Given the description of an element on the screen output the (x, y) to click on. 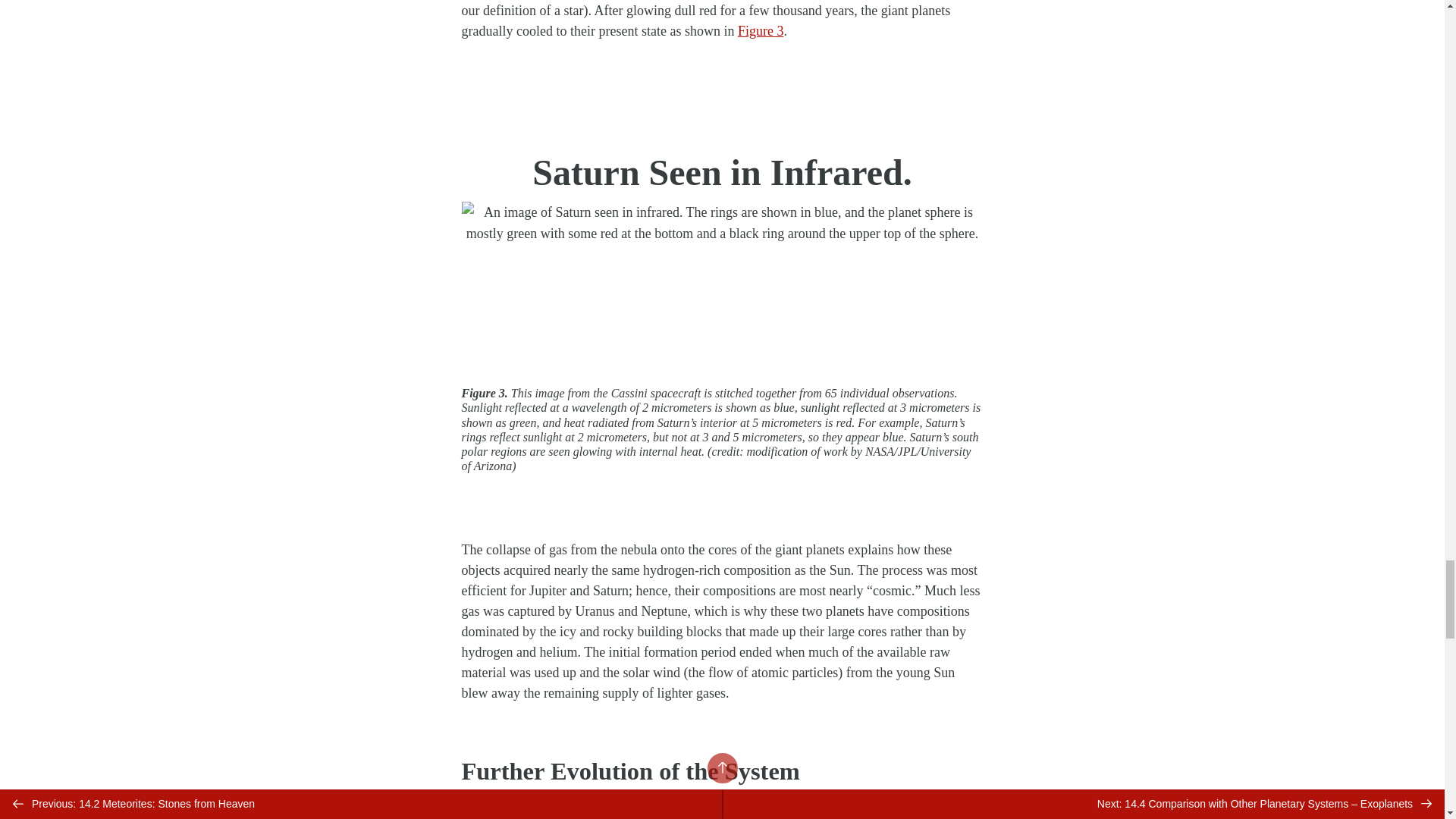
Figure 3 (761, 30)
